Given the description of an element on the screen output the (x, y) to click on. 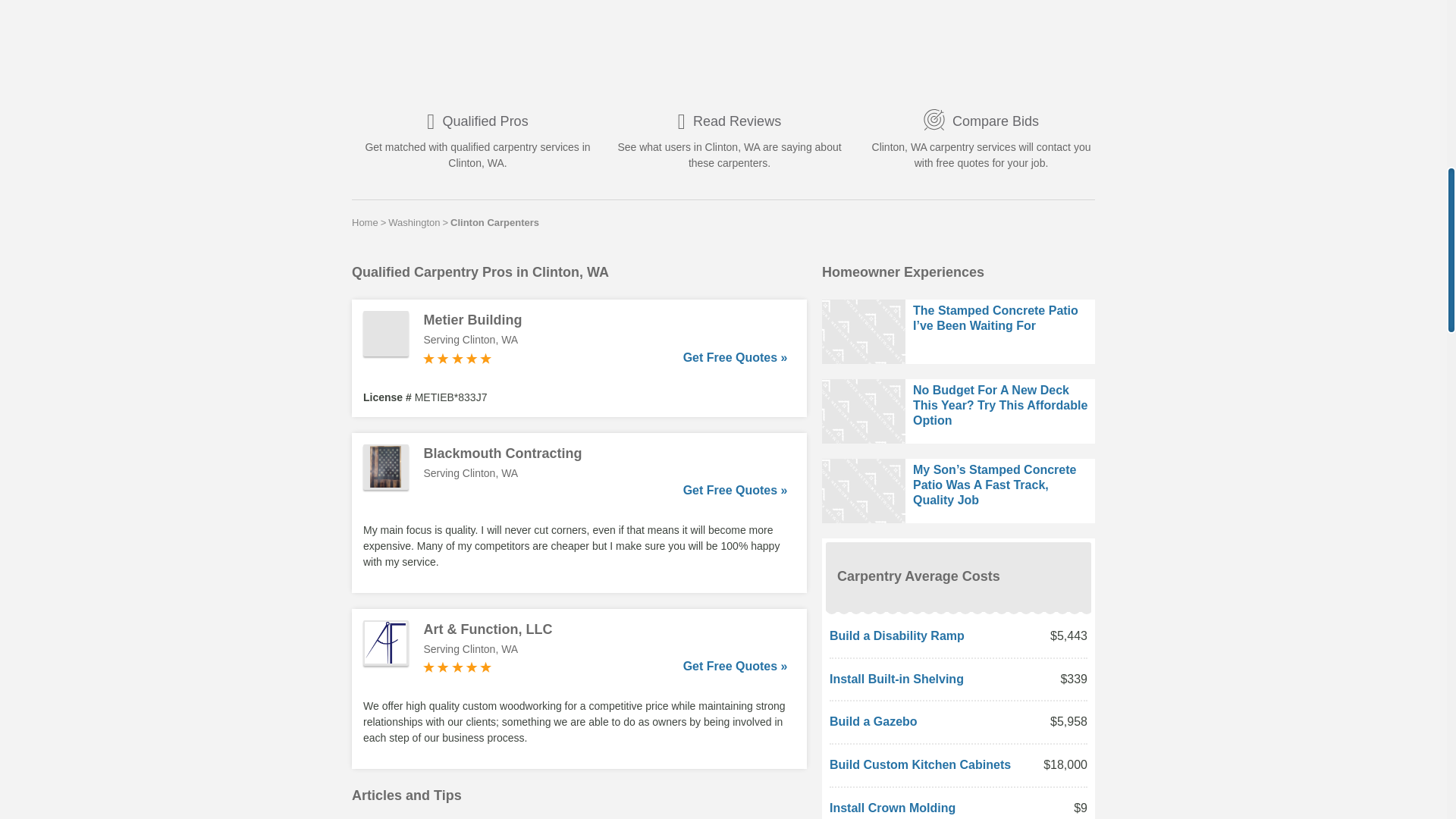
5 star rating (457, 358)
Metier Building (605, 320)
Home (365, 222)
Washington (413, 222)
5 star rating (457, 667)
